Given the description of an element on the screen output the (x, y) to click on. 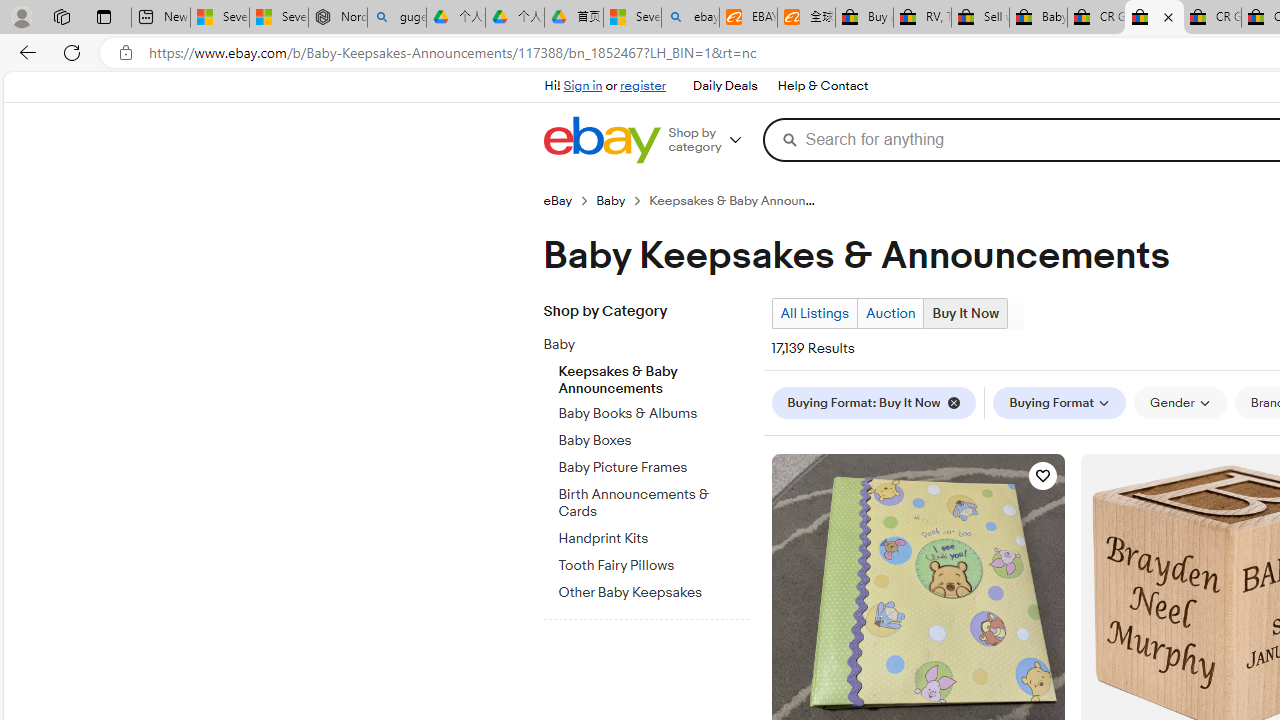
Buying Format: Buy It Now - Remove Filter (873, 403)
Baby Boxes (653, 437)
Buy It Now (965, 313)
Shop by category (711, 140)
Other Baby Keepsakes (653, 589)
Auction (890, 313)
Baby (653, 341)
Baby (637, 345)
Auction (890, 313)
Handprint Kits (653, 535)
Baby Picture Frames (653, 464)
